Given the description of an element on the screen output the (x, y) to click on. 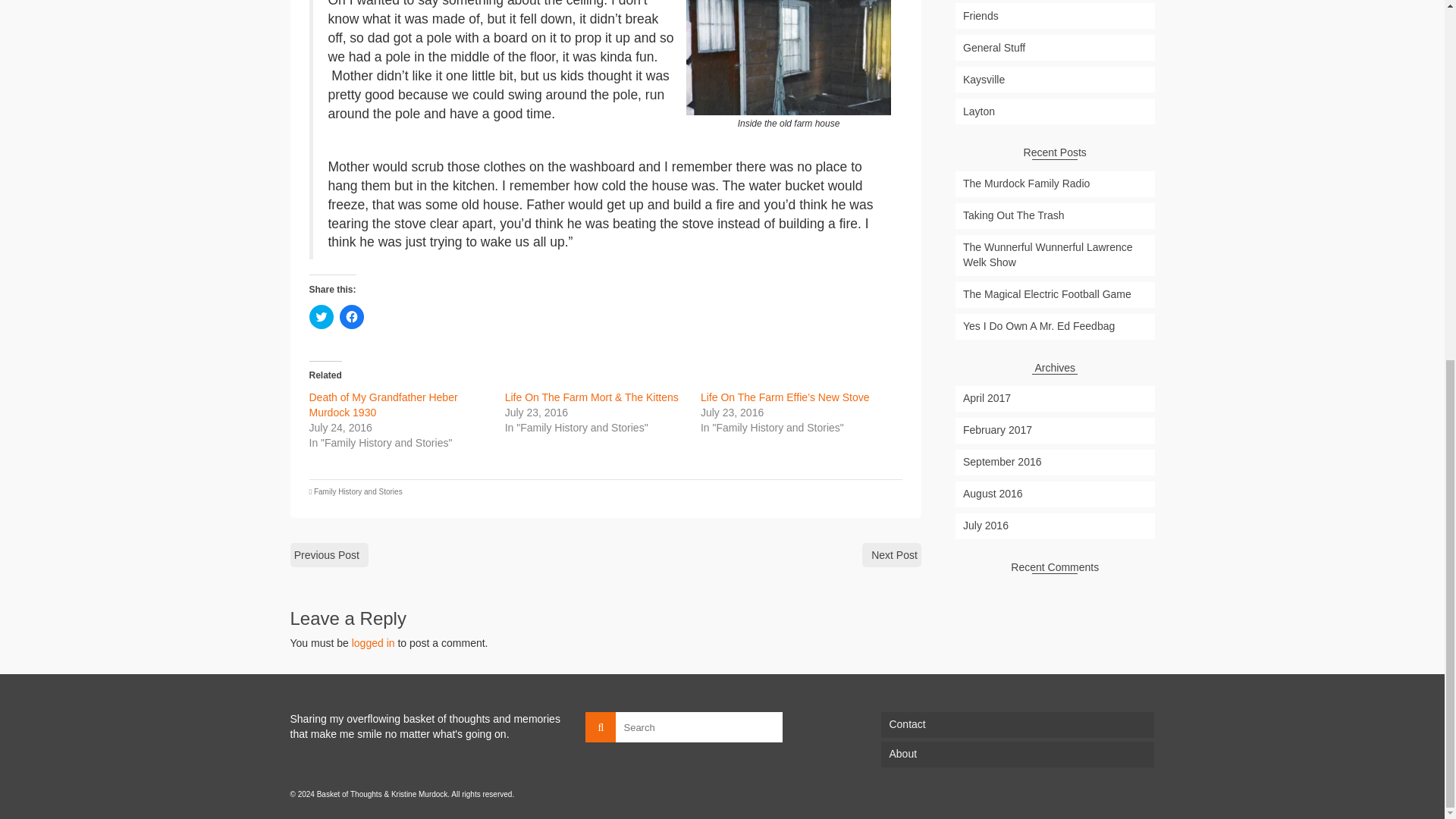
logged in (373, 643)
Previous Post (328, 554)
Click to share on Twitter (320, 316)
Friends (1054, 15)
Click to share on Facebook (351, 316)
Family History and Stories (358, 491)
Kaysville (1054, 79)
The Wunnerful Wunnerful Lawrence Welk Show (1054, 255)
Next Post (891, 554)
Taking Out The Trash (1054, 216)
The Murdock Family Radio (1054, 184)
General Stuff (1054, 47)
Death of My Grandfather Heber Murdock 1930 (383, 404)
Layton (1054, 111)
Death of My Grandfather Heber Murdock 1930 (383, 404)
